Given the description of an element on the screen output the (x, y) to click on. 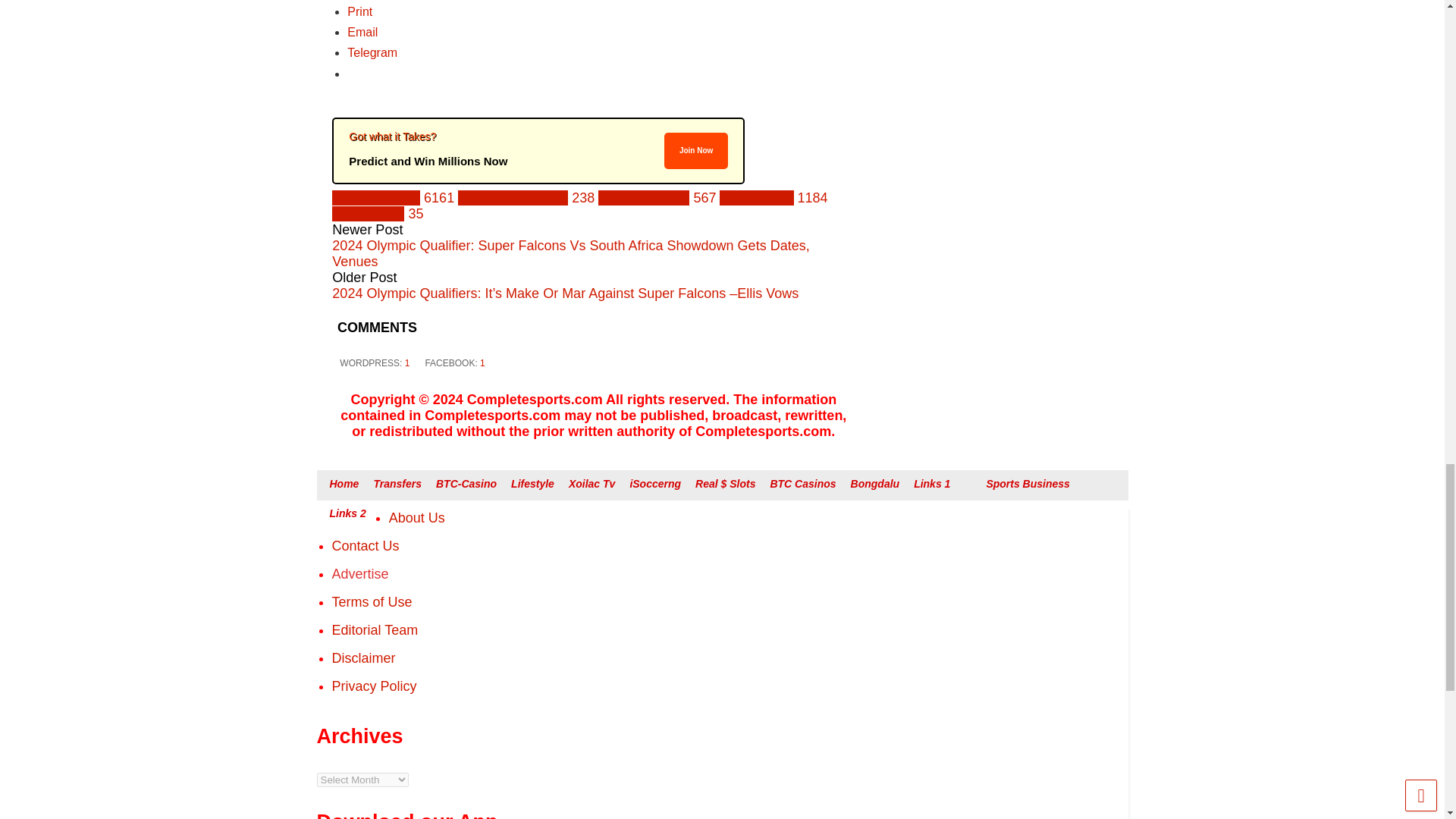
Click to print (359, 11)
Click to share on Telegram (372, 51)
Click to email a link to a friend (362, 31)
